Given the description of an element on the screen output the (x, y) to click on. 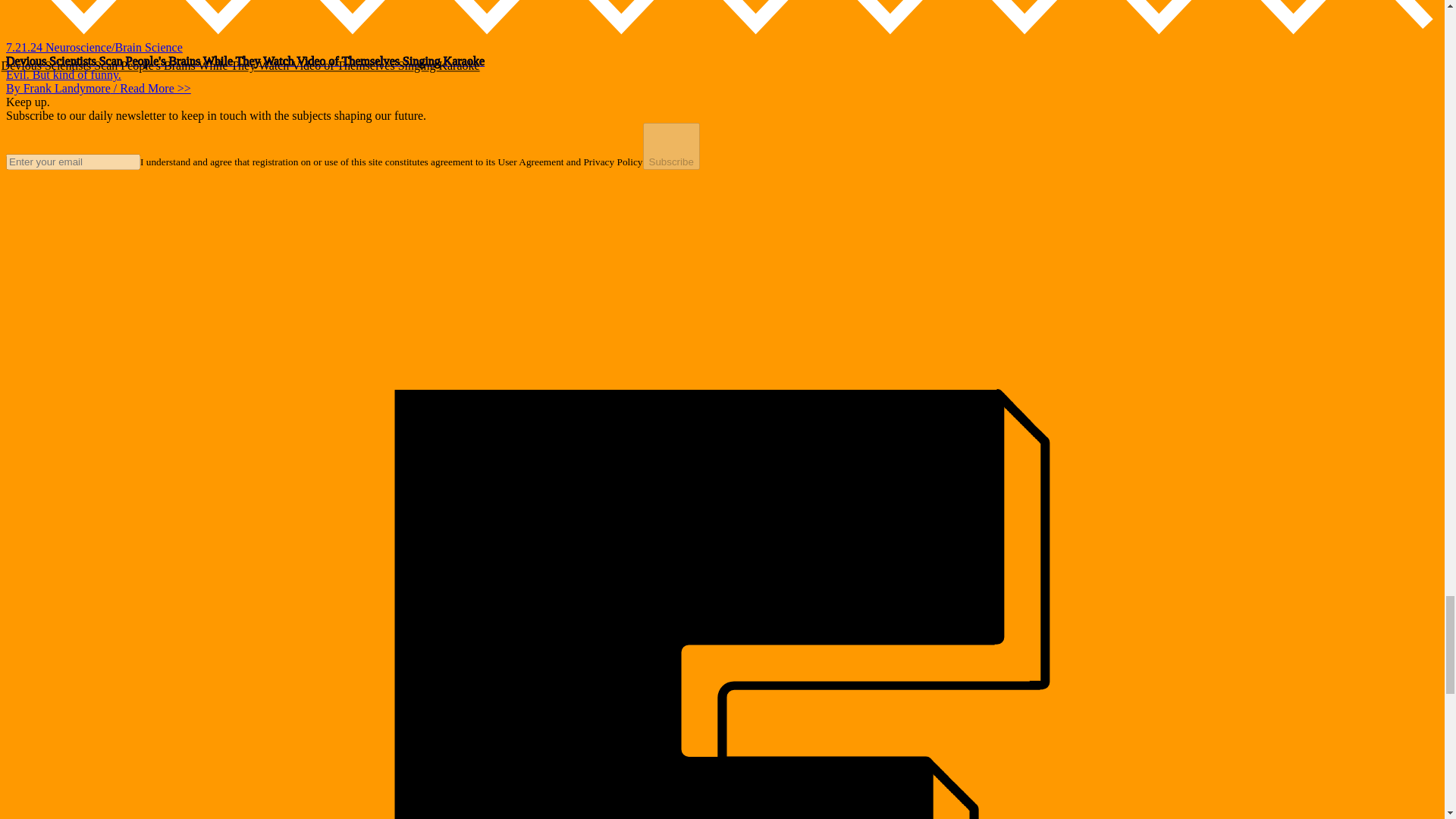
Subscribe (671, 145)
